Given the description of an element on the screen output the (x, y) to click on. 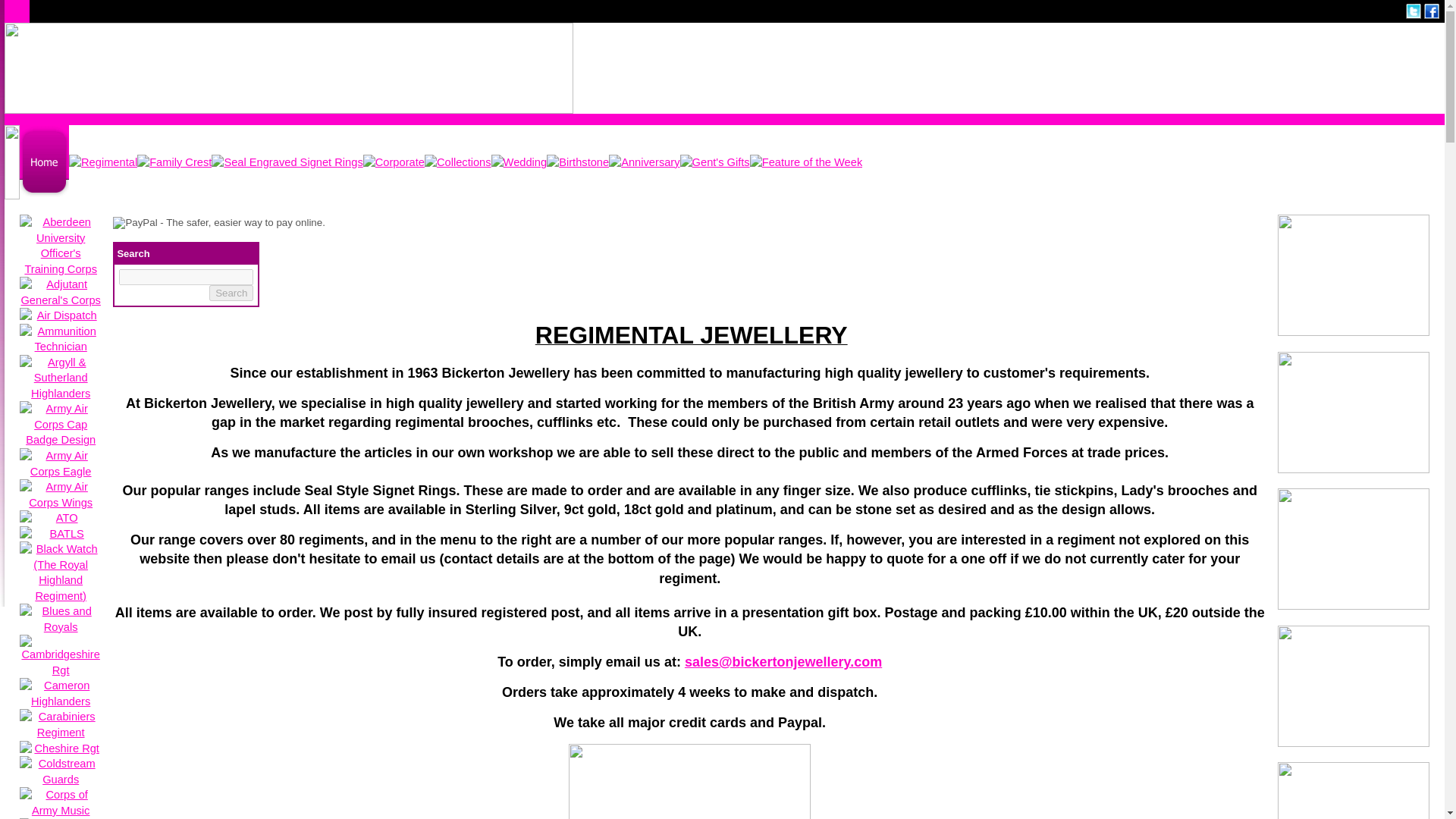
Search (231, 293)
